Given the description of an element on the screen output the (x, y) to click on. 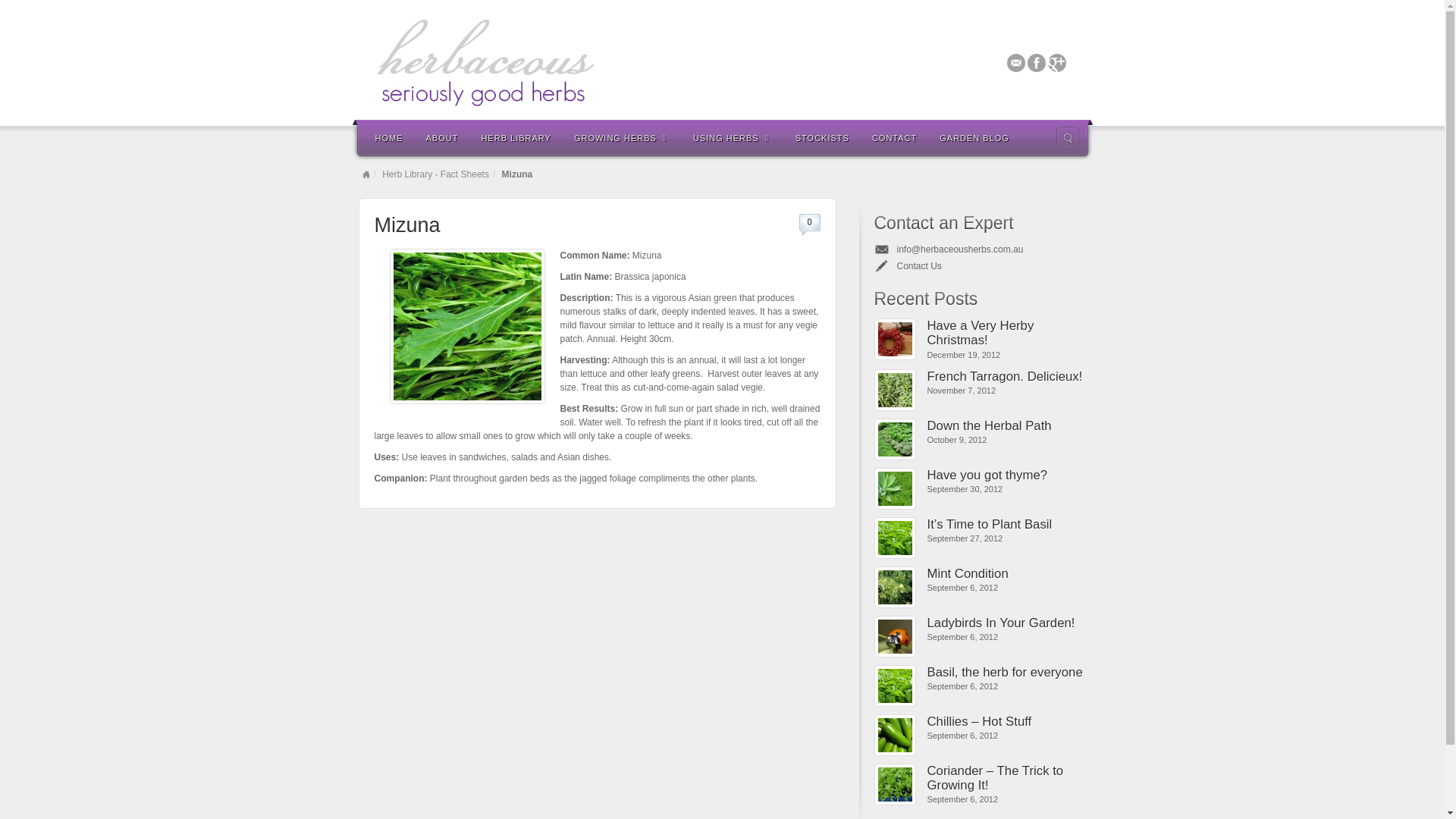
GROWING HERBS (621, 136)
About our Herb Range (440, 136)
Herbaceous Herbs (721, 62)
Search the site... (1066, 137)
Email (1016, 62)
Information Fact Sheet Per Herb (515, 136)
USING HERBS (732, 136)
CONTACT (894, 136)
STOCKISTS (822, 136)
Search the site... (1066, 137)
